Given the description of an element on the screen output the (x, y) to click on. 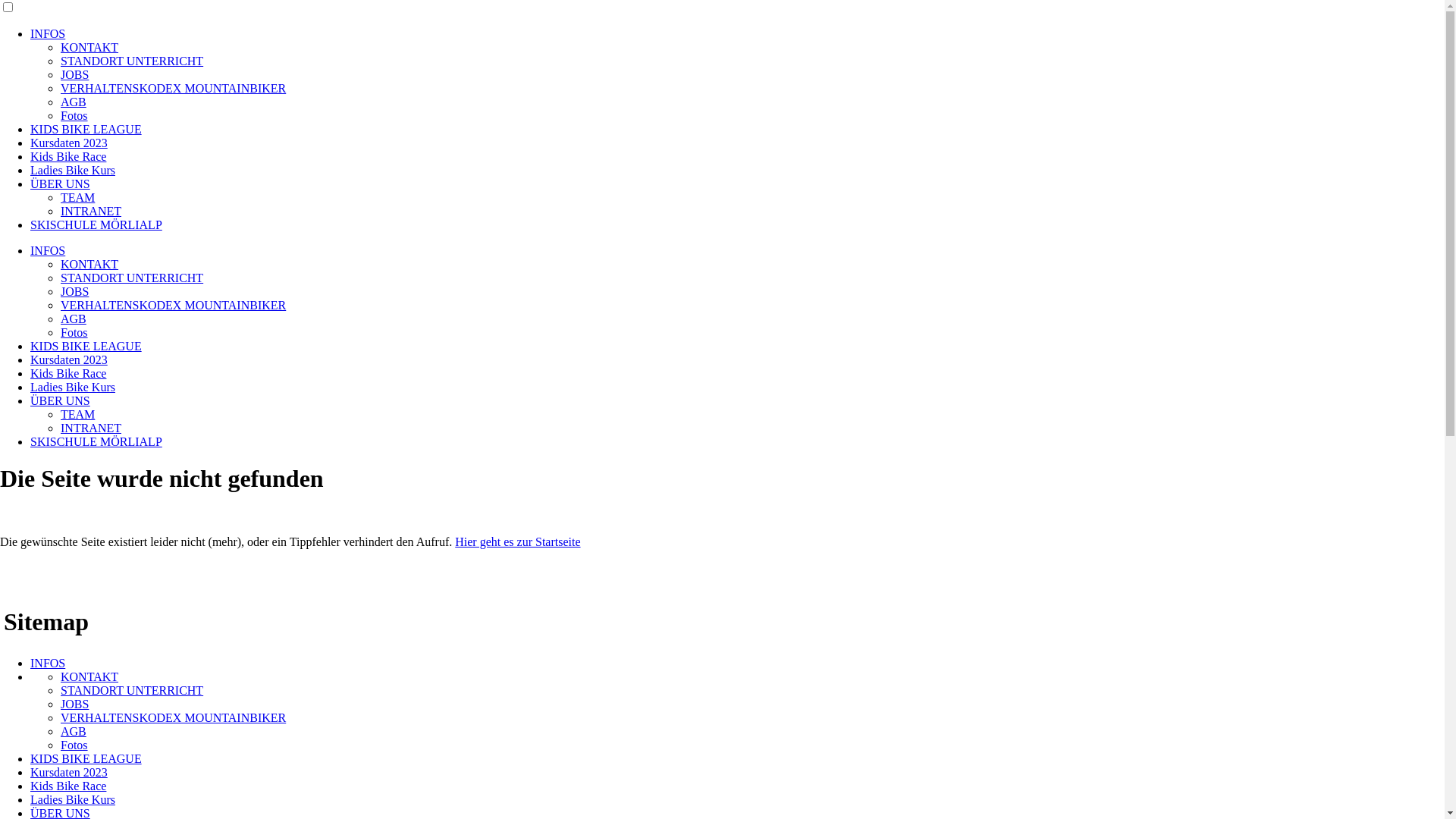
Kursdaten 2023 Element type: text (68, 142)
Kids Bike Race Element type: text (68, 156)
KONTAKT Element type: text (89, 263)
Fotos Element type: text (73, 744)
Ladies Bike Kurs Element type: text (72, 169)
STANDORT UNTERRICHT Element type: text (131, 690)
INFOS Element type: text (47, 33)
TEAM Element type: text (77, 197)
JOBS Element type: text (74, 74)
AGB Element type: text (73, 318)
Ladies Bike Kurs Element type: text (72, 386)
VERHALTENSKODEX MOUNTAINBIKER Element type: text (172, 304)
JOBS Element type: text (74, 291)
VERHALTENSKODEX MOUNTAINBIKER Element type: text (172, 717)
Fotos Element type: text (73, 115)
KONTAKT Element type: text (89, 676)
KIDS BIKE LEAGUE Element type: text (85, 758)
TEAM Element type: text (77, 413)
INTRANET Element type: text (90, 427)
Ladies Bike Kurs Element type: text (72, 799)
AGB Element type: text (73, 730)
KIDS BIKE LEAGUE Element type: text (85, 345)
STANDORT UNTERRICHT Element type: text (131, 60)
Kids Bike Race Element type: text (68, 785)
Kursdaten 2023 Element type: text (68, 359)
INTRANET Element type: text (90, 210)
VERHALTENSKODEX MOUNTAINBIKER Element type: text (172, 87)
KONTAKT Element type: text (89, 46)
INFOS Element type: text (47, 250)
Fotos Element type: text (73, 332)
Kids Bike Race Element type: text (68, 373)
Hier geht es zur Startseite Element type: text (517, 541)
Kursdaten 2023 Element type: text (68, 771)
KIDS BIKE LEAGUE Element type: text (85, 128)
JOBS Element type: text (74, 703)
STANDORT UNTERRICHT Element type: text (131, 277)
INFOS Element type: text (47, 662)
AGB Element type: text (73, 101)
